Given the description of an element on the screen output the (x, y) to click on. 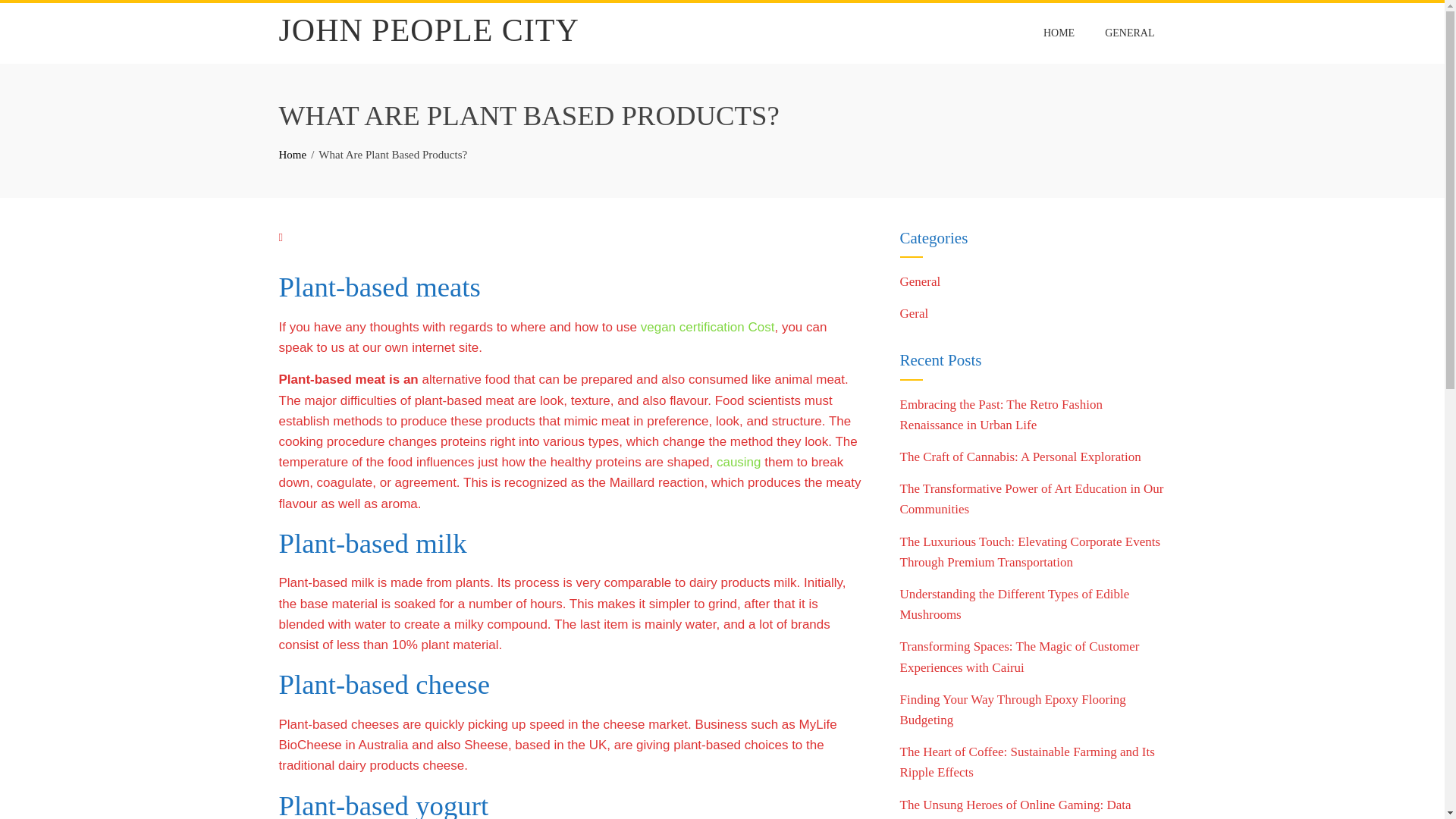
The Transformative Power of Art Education in Our Communities (1031, 498)
Understanding the Different Types of Edible Mushrooms (1014, 604)
The Craft of Cannabis: A Personal Exploration (1019, 456)
Geral (913, 313)
vegan certification Cost (707, 327)
The Unsung Heroes of Online Gaming: Data Security (1015, 808)
Home (293, 154)
JOHN PEOPLE CITY (429, 30)
Finding Your Way Through Epoxy Flooring Budgeting (1012, 709)
